Given the description of an element on the screen output the (x, y) to click on. 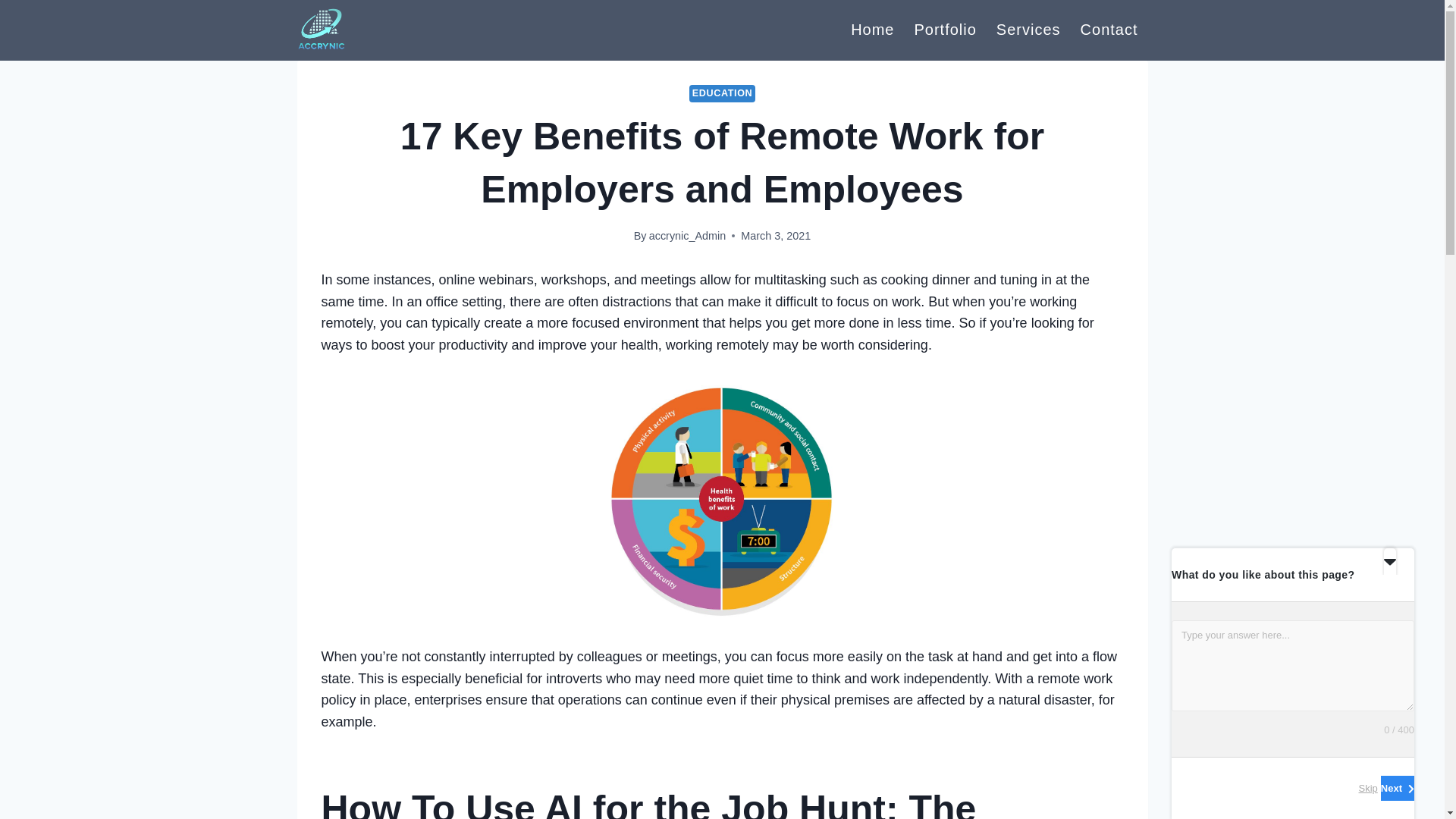
Portfolio (944, 29)
EDUCATION (721, 93)
Next (1396, 787)
Contact (1109, 29)
Services (1028, 29)
Home (872, 29)
